Given the description of an element on the screen output the (x, y) to click on. 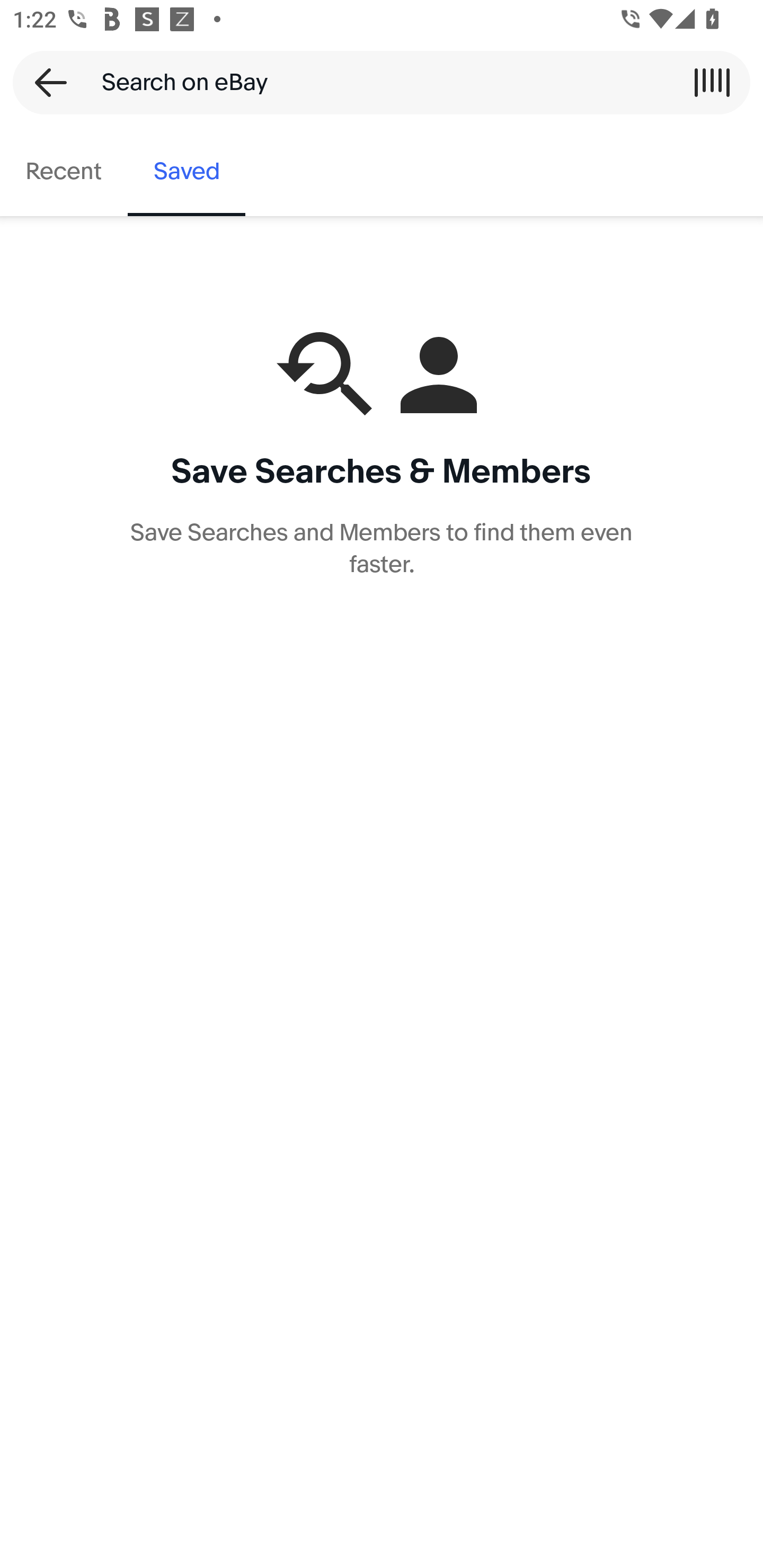
Back (44, 82)
Scan a barcode (711, 82)
Search on eBay (375, 82)
Recent, tab 1 of 2 Recent (63, 171)
